Given the description of an element on the screen output the (x, y) to click on. 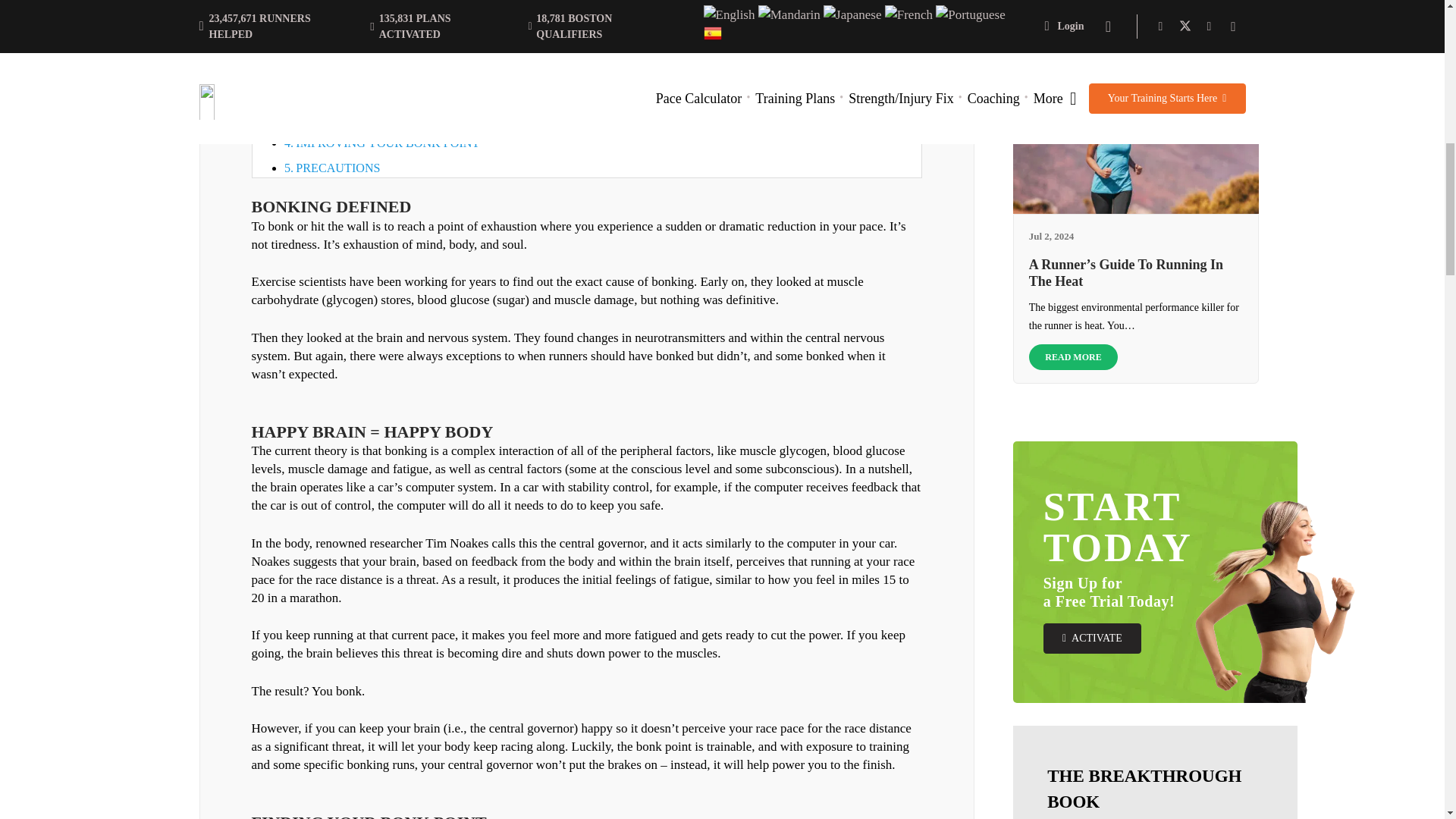
IMPROVING YOUR BONK POINT (387, 142)
BONKING DEFINED (351, 69)
FINDING YOUR BONK POINT (377, 118)
PRECAUTIONS (337, 167)
IMPROVING YOUR BONK POINT (387, 142)
PRECAUTIONS (337, 167)
FINDING YOUR BONK POINT (377, 118)
BONKING DEFINED (351, 69)
